Given the description of an element on the screen output the (x, y) to click on. 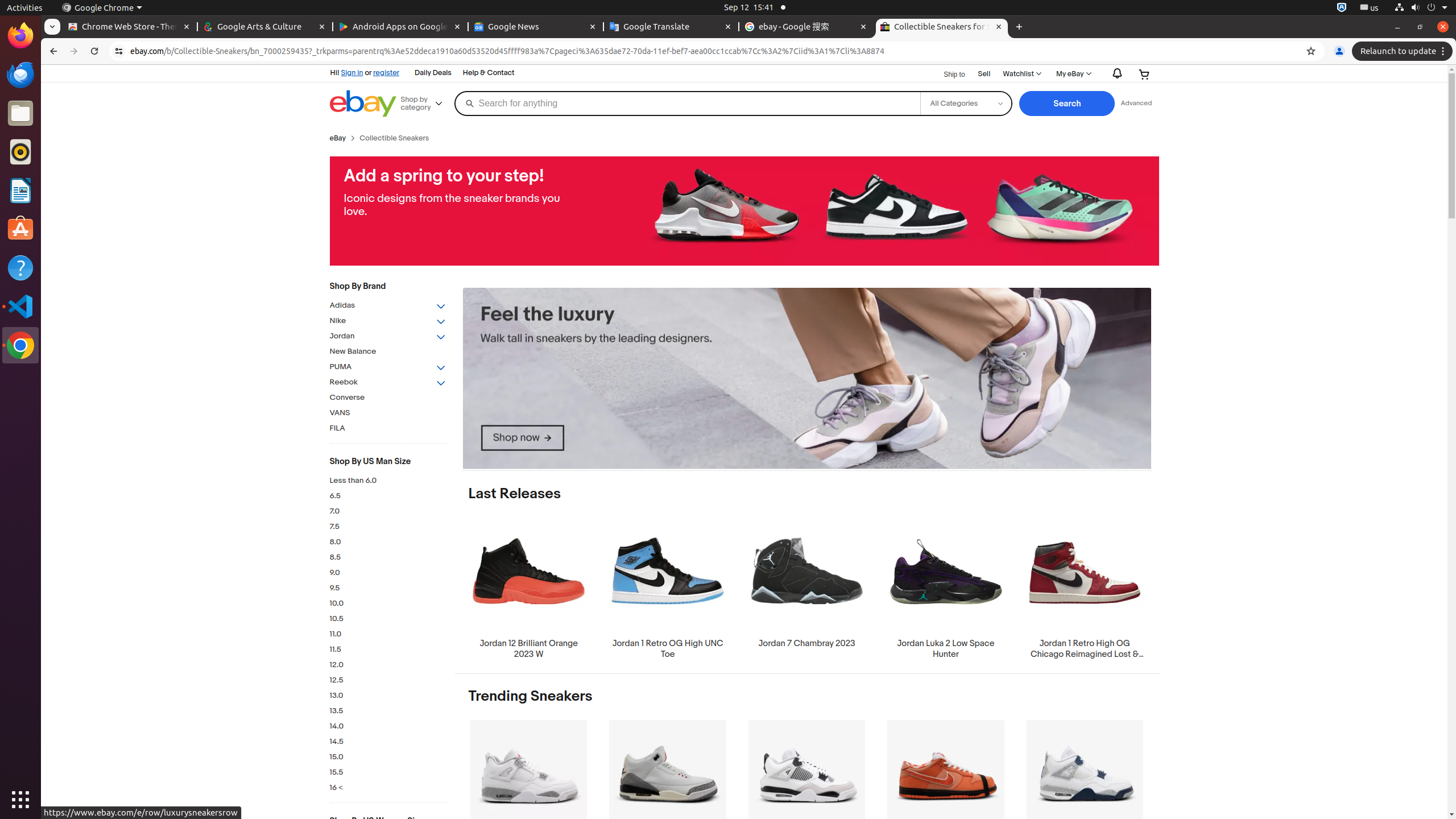
Search Element type: push-button (1067, 103)
Sell Element type: link (983, 73)
Search for anything Element type: combo-box (686, 103)
Shop by category Element type: push-button (425, 103)
Jordan 7 Chambray 2023 Element type: link (806, 582)
